Given the description of an element on the screen output the (x, y) to click on. 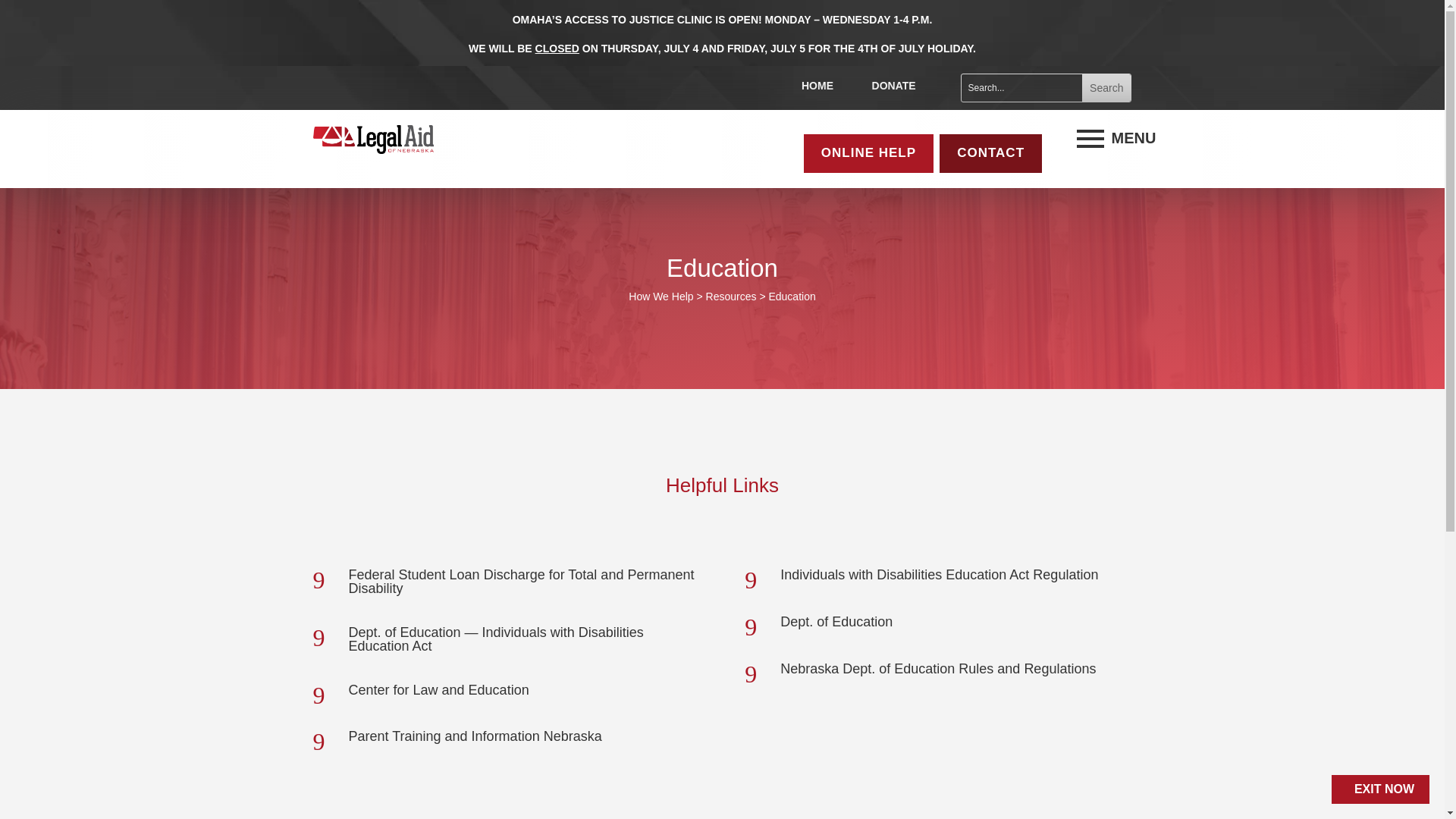
HOME (817, 85)
CONTACT (990, 153)
Search (1106, 87)
DONATE (893, 85)
EXIT NOW (1380, 788)
Search (1106, 87)
ONLINE HELP (868, 153)
Search (1106, 87)
MENU (1090, 138)
